Given the description of an element on the screen output the (x, y) to click on. 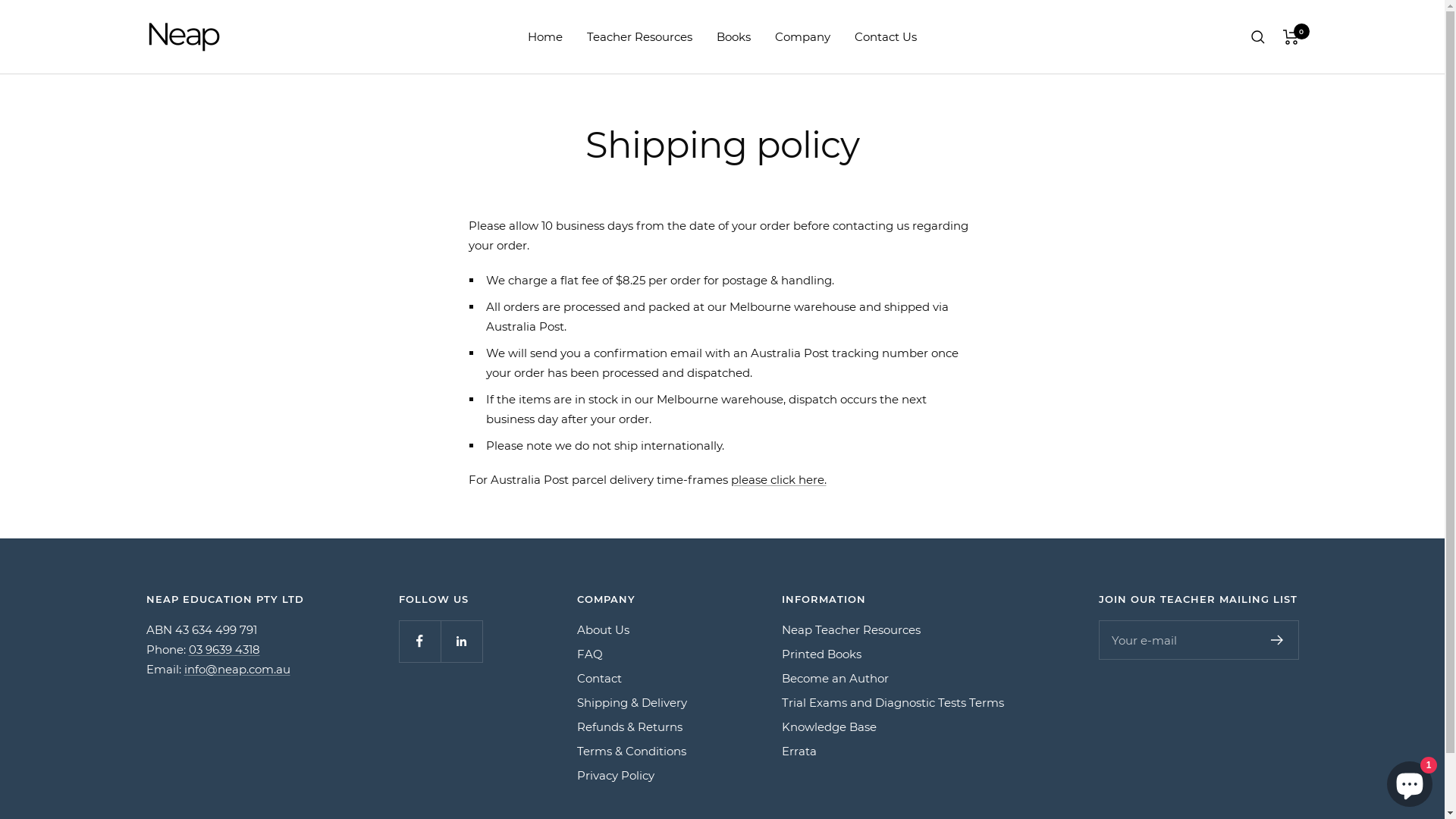
please click here. Element type: text (778, 479)
Refunds & Returns Element type: text (628, 727)
Become an Author Element type: text (834, 678)
Terms & Conditions Element type: text (630, 751)
Register Element type: hover (1276, 639)
Contact Element type: text (598, 678)
Privacy Policy Element type: text (614, 775)
Trial Exams and Diagnostic Tests Terms Element type: text (892, 702)
Teacher Resources Element type: text (639, 37)
Company Element type: text (802, 37)
Shopify online store chat Element type: hover (1409, 780)
info@neap.com.au Element type: text (236, 669)
Neap Education Element type: text (183, 36)
Books Element type: text (733, 37)
03 9639 4318 Element type: text (223, 649)
About Us Element type: text (602, 630)
Neap Teacher Resources Element type: text (850, 630)
Knowledge Base Element type: text (828, 727)
Errata Element type: text (798, 751)
Shipping & Delivery Element type: text (631, 702)
Home Element type: text (544, 37)
Printed Books Element type: text (820, 654)
FAQ Element type: text (589, 654)
0 Element type: text (1291, 35)
Contact Us Element type: text (885, 37)
